Given the description of an element on the screen output the (x, y) to click on. 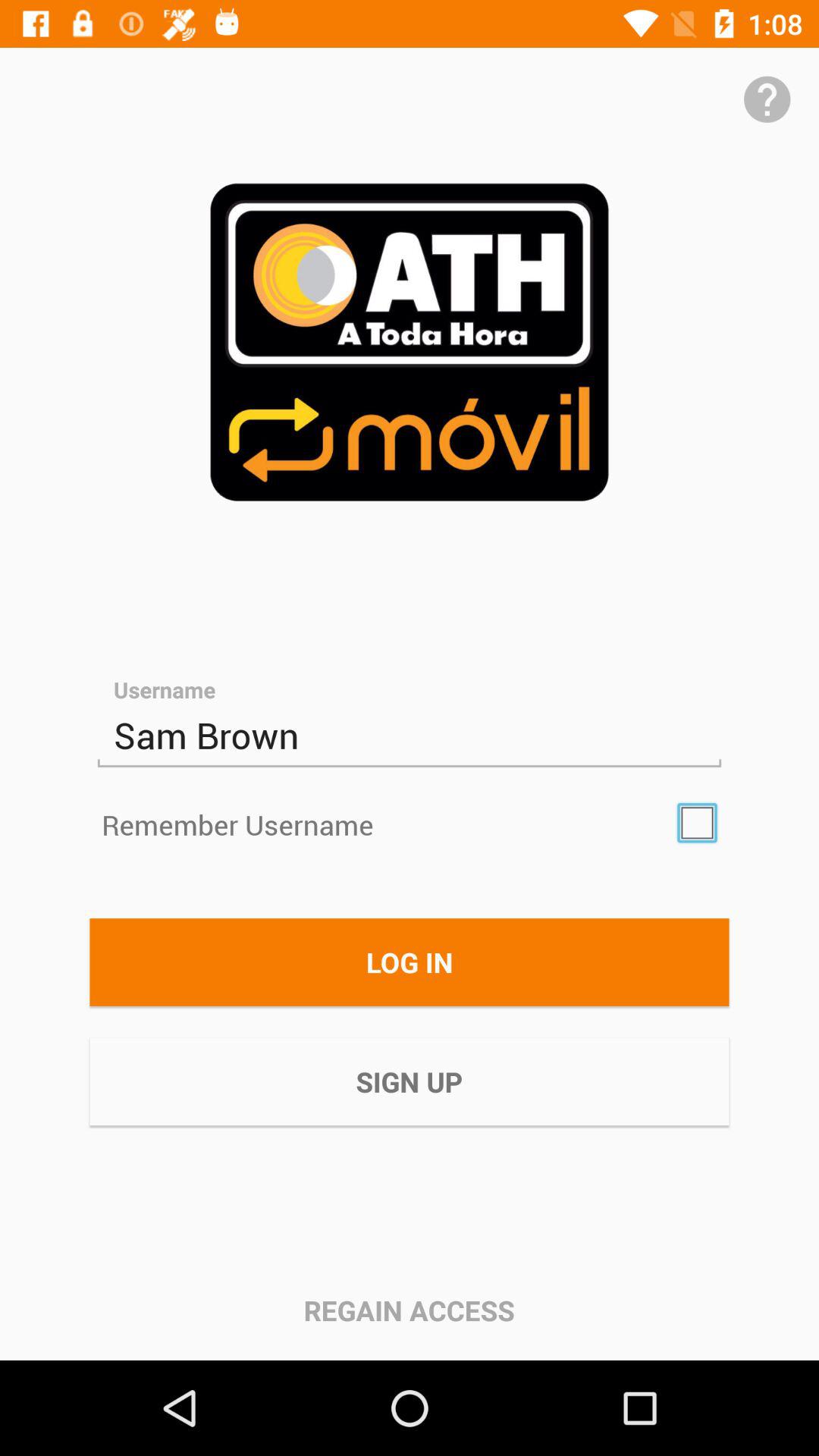
launch the icon below sign up (408, 1310)
